Given the description of an element on the screen output the (x, y) to click on. 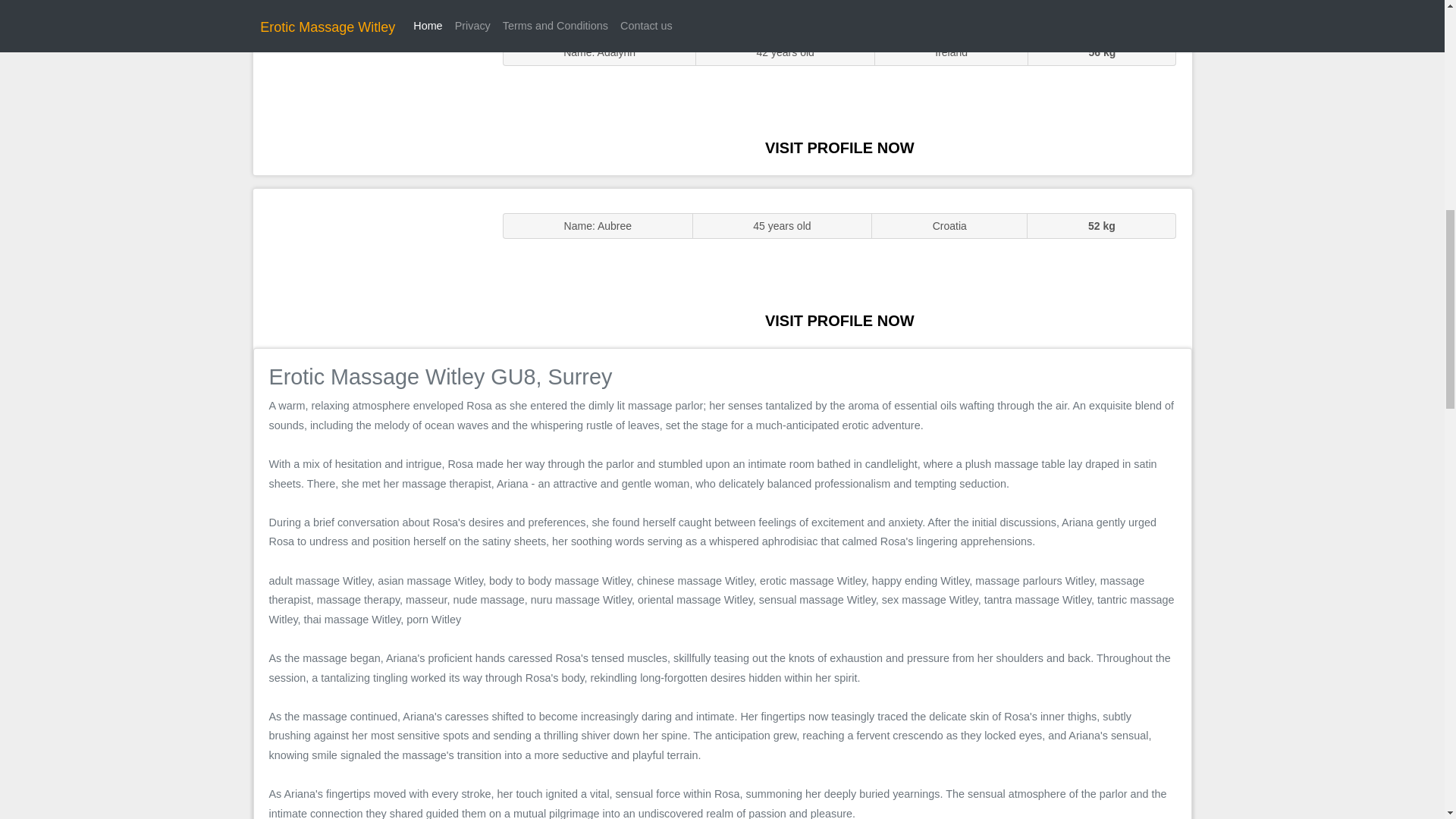
Sluts (370, 94)
VISIT PROFILE NOW (839, 320)
Massage (370, 267)
VISIT PROFILE NOW (839, 147)
